Given the description of an element on the screen output the (x, y) to click on. 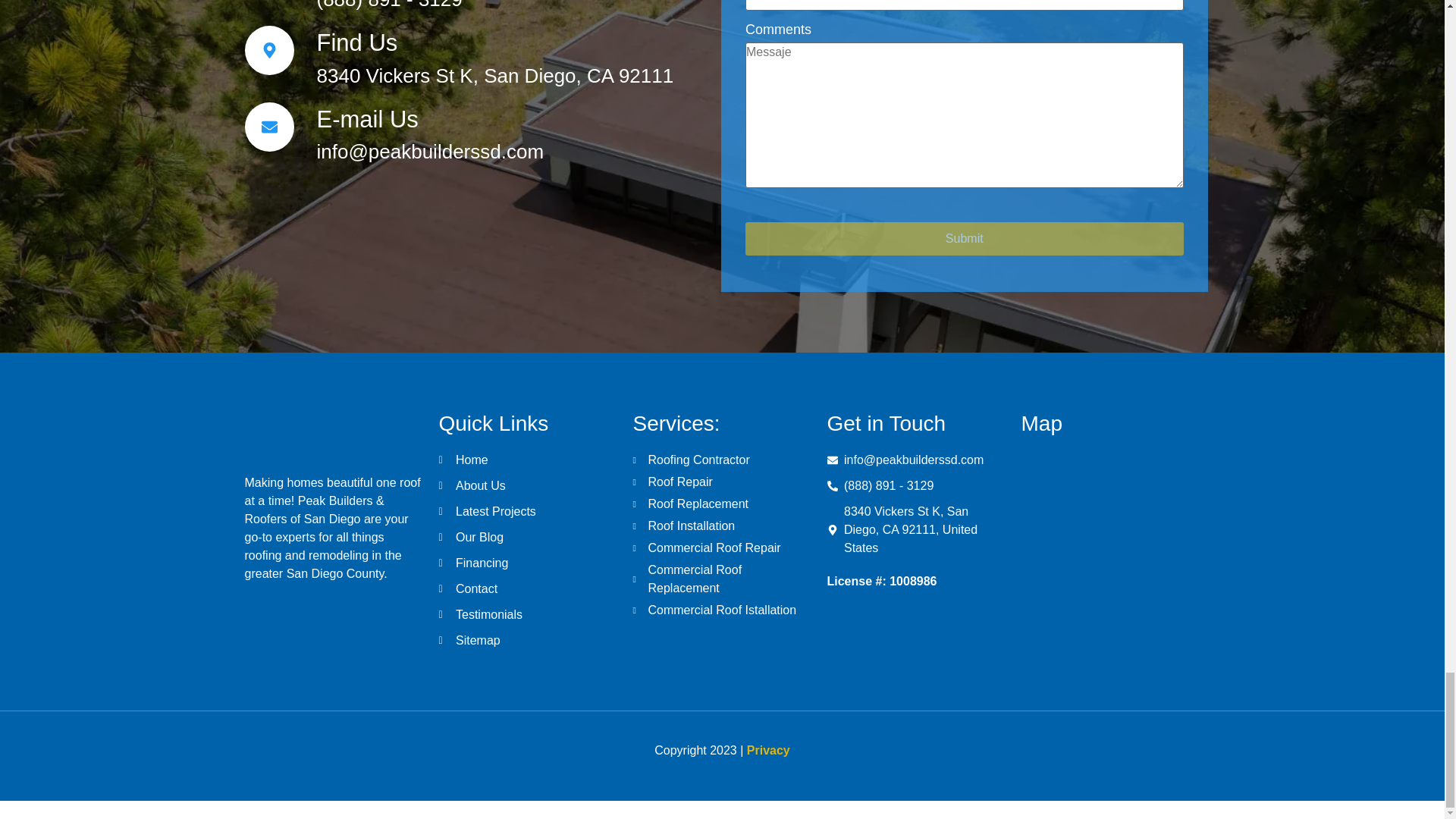
Submit (964, 238)
